Given the description of an element on the screen output the (x, y) to click on. 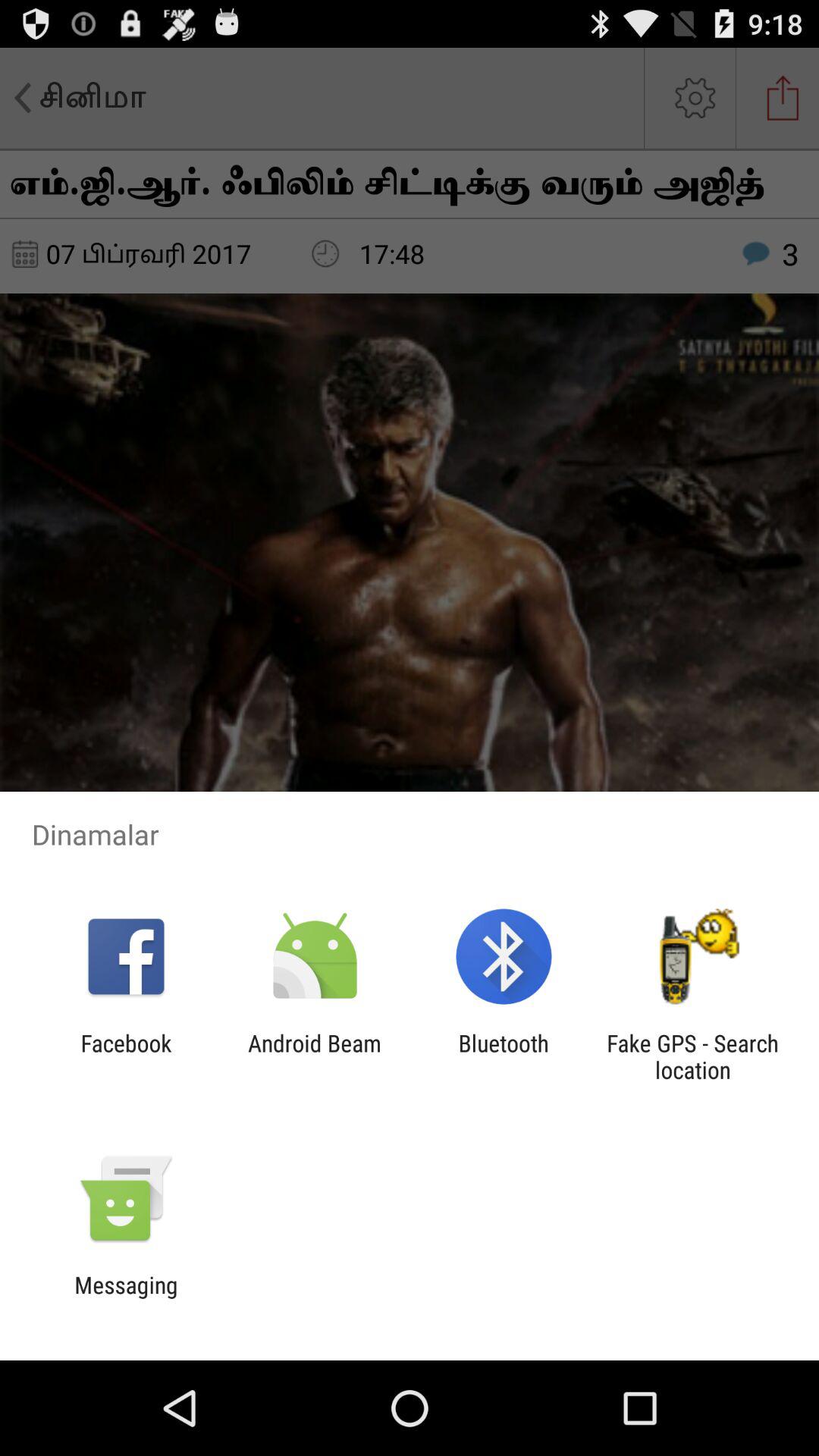
jump until android beam app (314, 1056)
